Given the description of an element on the screen output the (x, y) to click on. 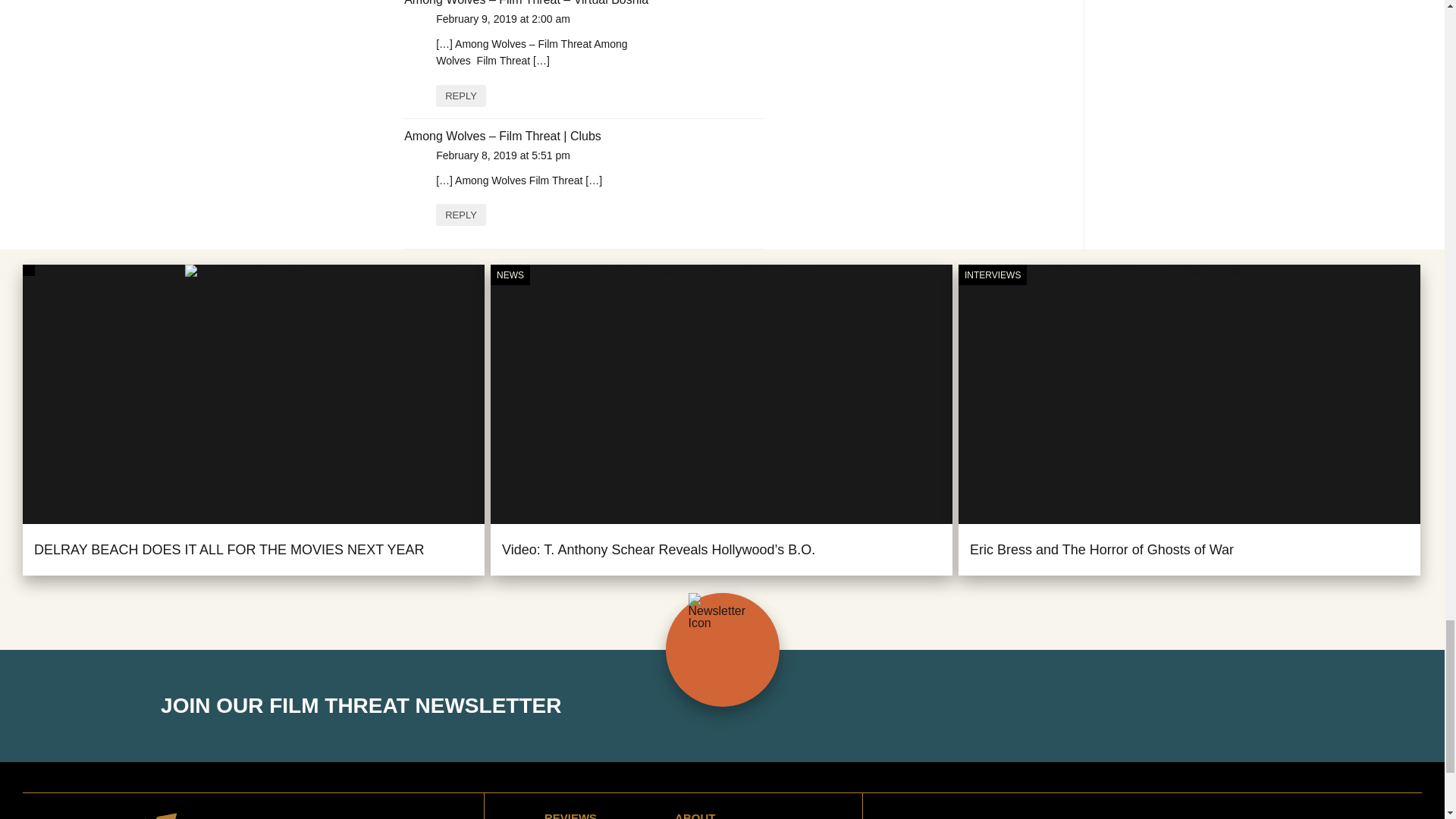
INTERVIEWS (991, 275)
February 8, 2019 at 5:51 pm (502, 155)
REPLY (460, 214)
REPLY (460, 96)
NEWS (510, 275)
DELRAY BEACH DOES IT ALL FOR THE MOVIES NEXT YEAR (229, 549)
Interviews (991, 275)
News (510, 275)
February 9, 2019 at 2:00 am (502, 19)
